Given the description of an element on the screen output the (x, y) to click on. 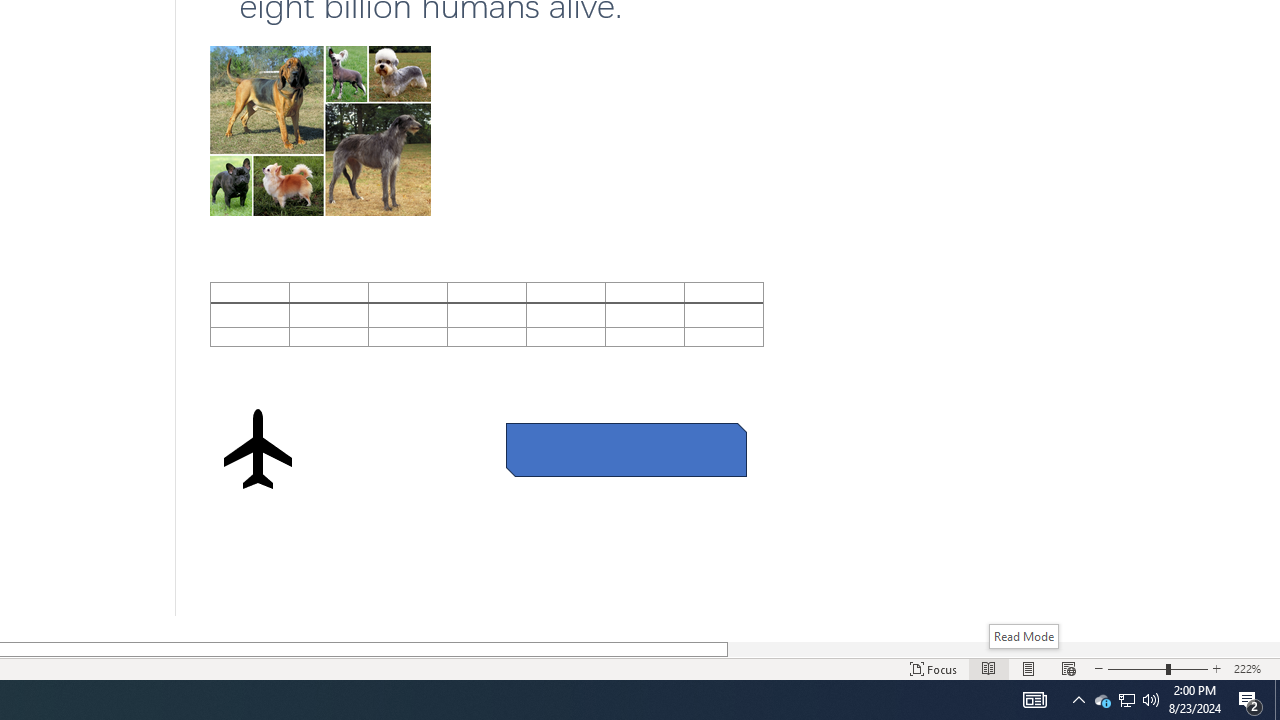
Increase Text Size (1217, 668)
Text Size (1158, 668)
Decrease Text Size (1099, 668)
Rectangle: Diagonal Corners Snipped 2 (626, 449)
